Given the description of an element on the screen output the (x, y) to click on. 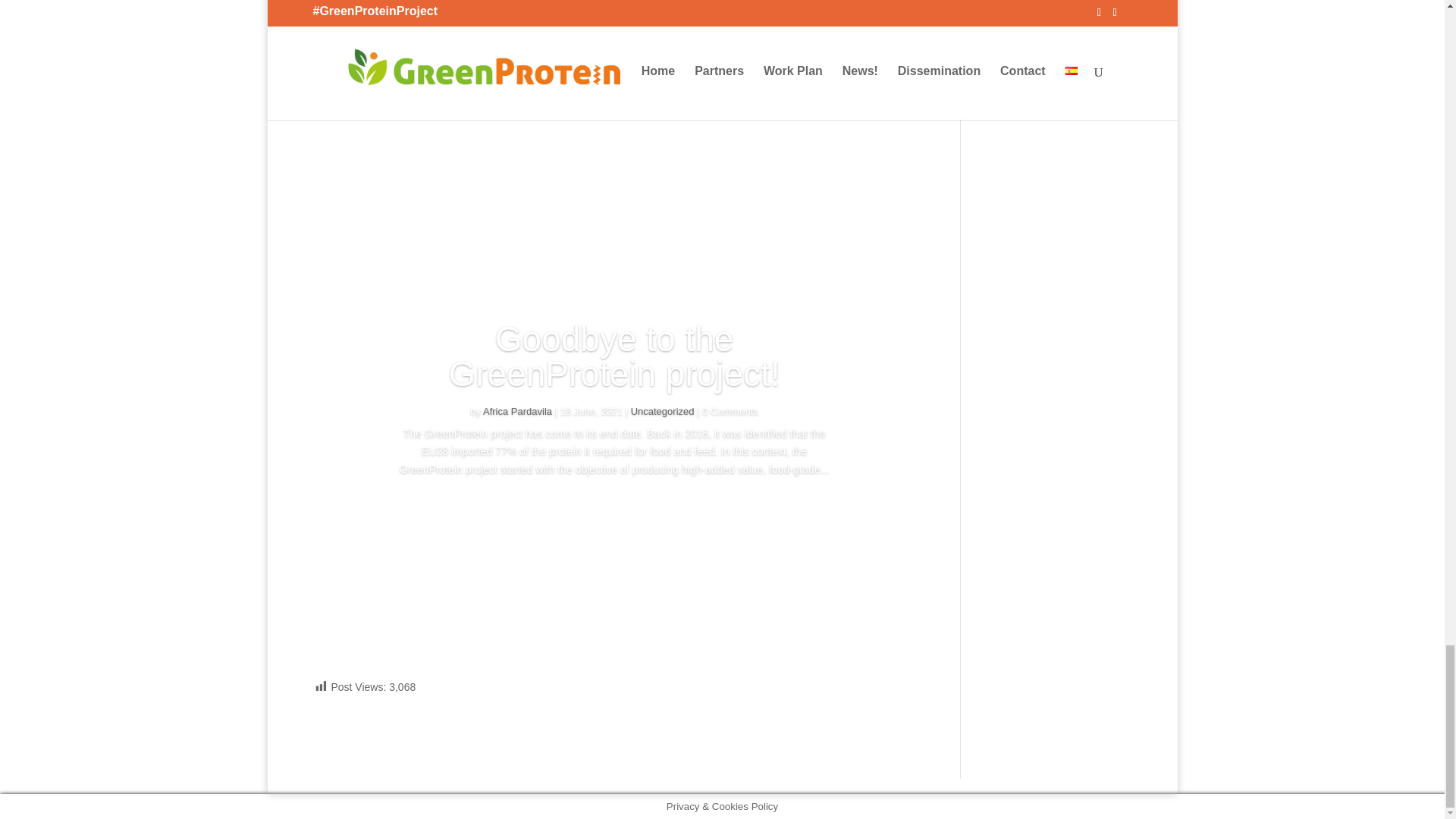
Read More (614, 513)
Follow on LinkedIn (365, 159)
Posts by Africa Pardavila (517, 410)
Africa Pardavila (517, 410)
Goodbye to the GreenProtein project! (613, 356)
Uncategorized (662, 410)
Follow on Twitter (335, 159)
